Given the description of an element on the screen output the (x, y) to click on. 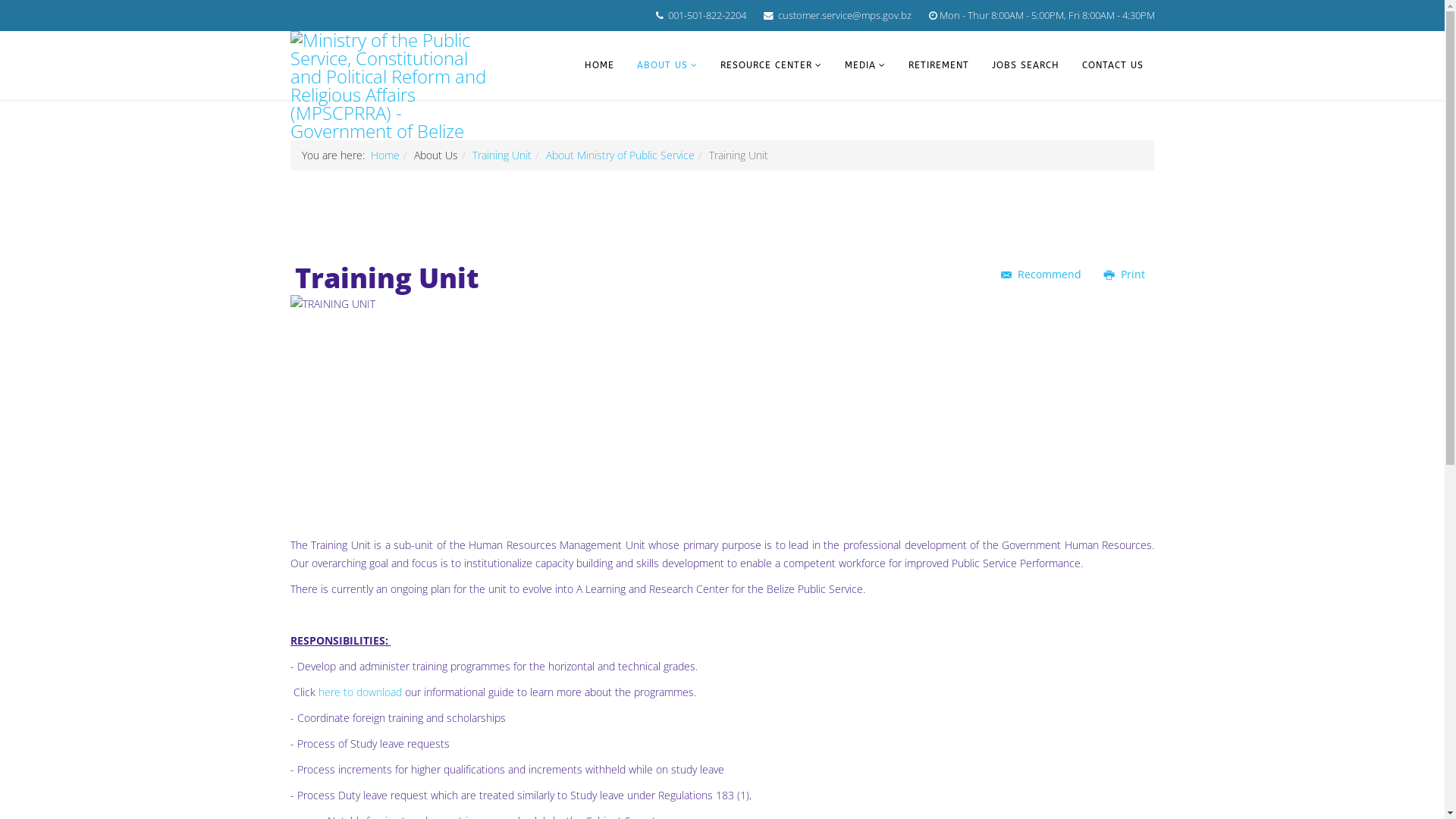
Print Element type: text (1123, 274)
customer.service@mps.gov.bz Element type: text (844, 15)
Training Unit Element type: text (500, 154)
HOME Element type: text (599, 65)
Home Element type: text (384, 154)
About Ministry of Public Service Element type: text (620, 154)
CONTACT US Element type: text (1112, 65)
MEDIA Element type: text (864, 65)
RESOURCE CENTER Element type: text (770, 65)
ABOUT US Element type: text (666, 65)
JOBS SEARCH Element type: text (1024, 65)
RETIREMENT Element type: text (937, 65)
here to download Element type: text (359, 691)
Recommend Element type: text (1040, 274)
001-501-822-2204 Element type: text (706, 15)
